Given the description of an element on the screen output the (x, y) to click on. 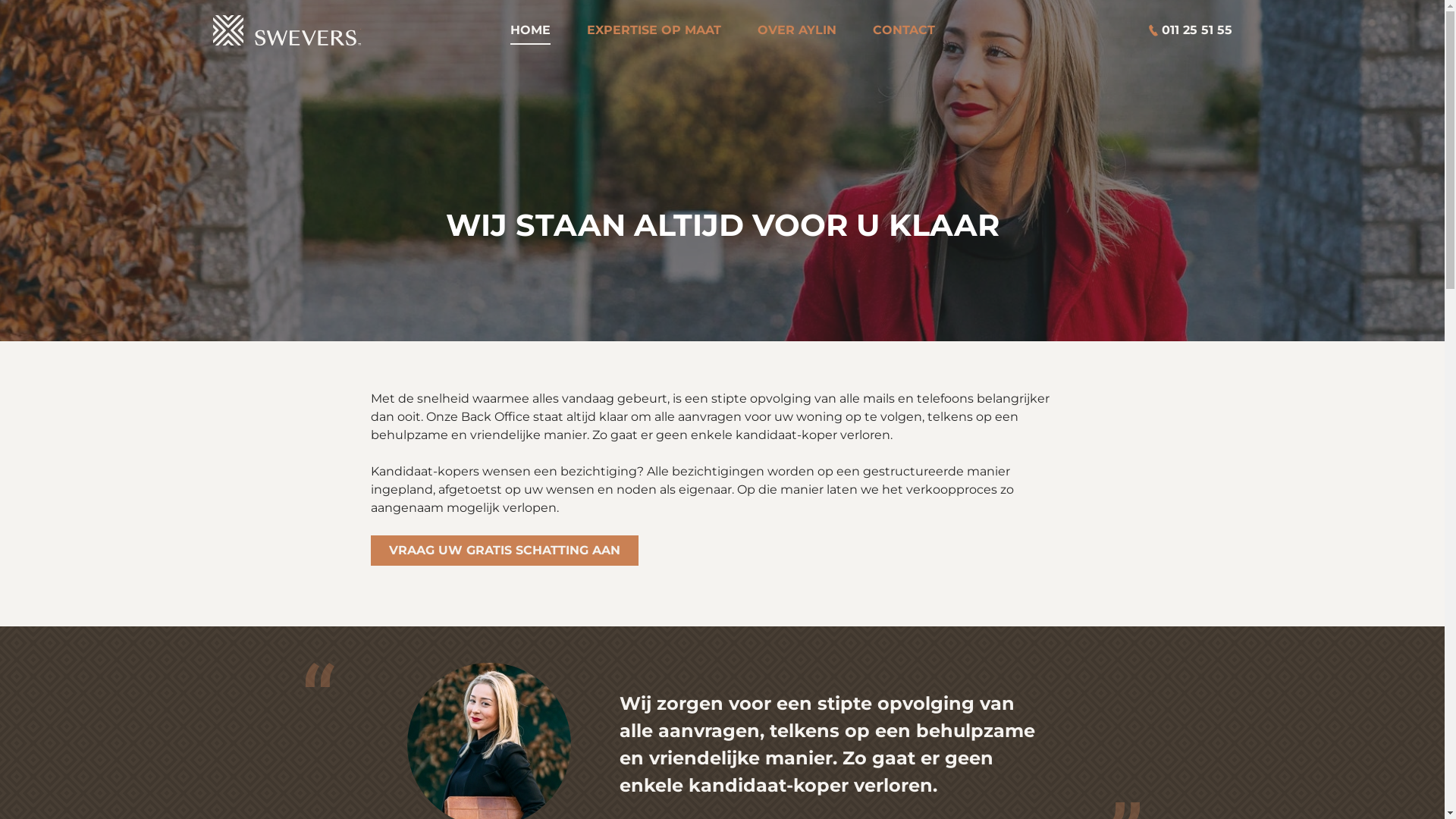
EXPERTISE OP MAAT Element type: text (653, 29)
Marc Swevers Element type: text (286, 30)
OVER AYLIN Element type: text (795, 29)
HOME Element type: text (529, 29)
VRAAG UW GRATIS SCHATTING AAN Element type: text (503, 550)
CONTACT Element type: text (903, 29)
011 25 51 55 Element type: text (1181, 30)
